Given the description of an element on the screen output the (x, y) to click on. 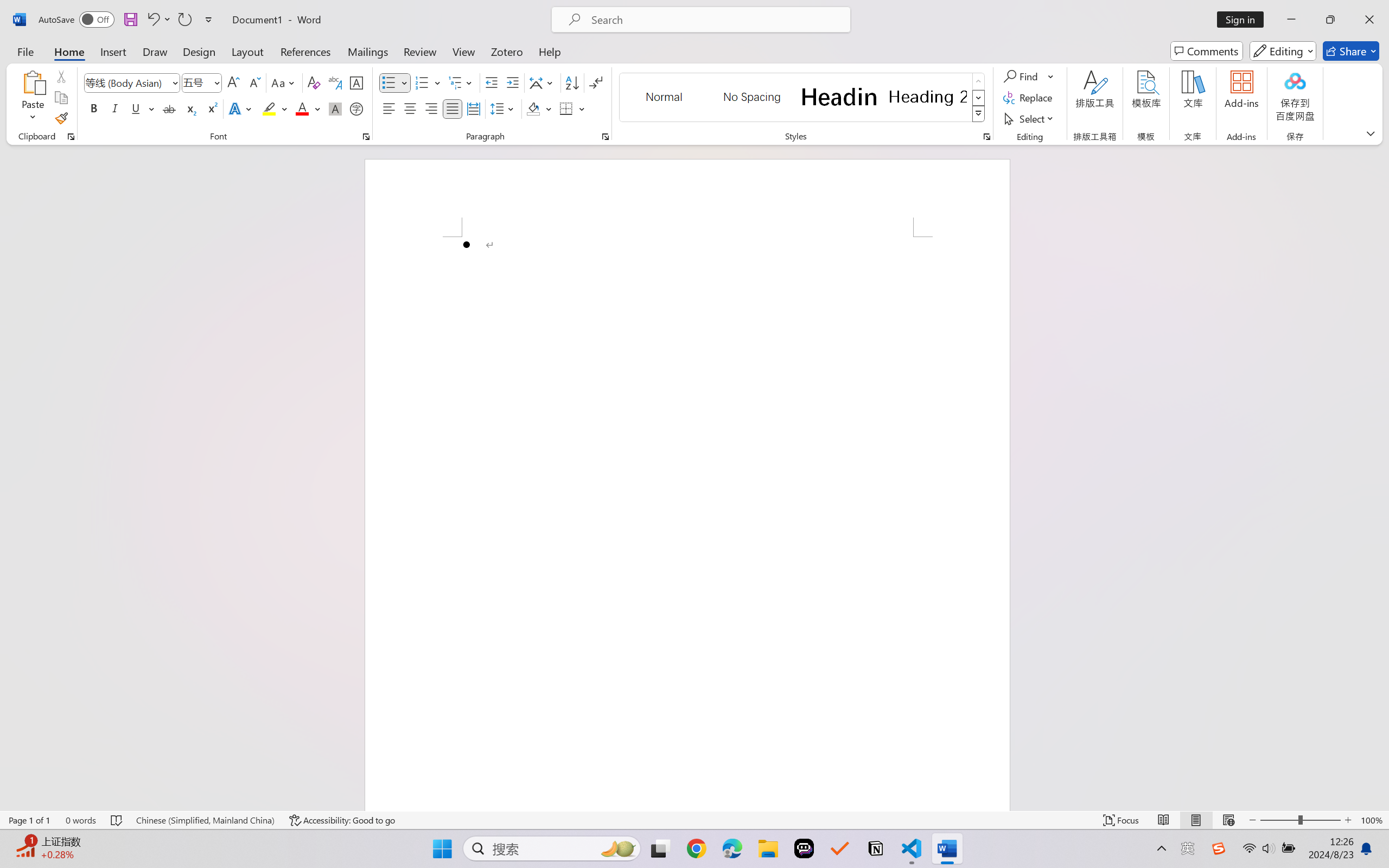
Language Chinese (Simplified, Mainland China) (205, 819)
